Given the description of an element on the screen output the (x, y) to click on. 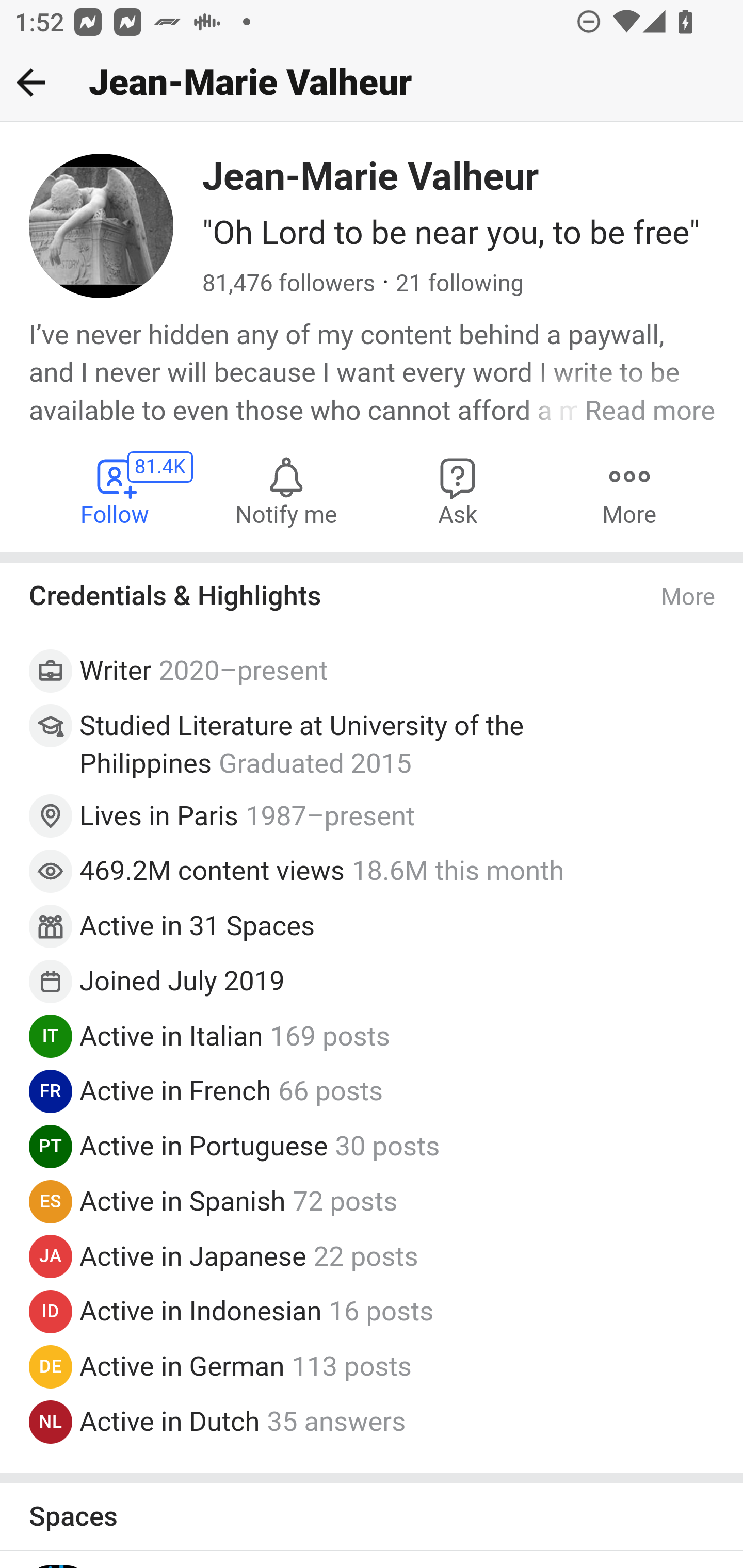
Back (30, 82)
81,476 followers (289, 284)
21 following (459, 284)
Follow Jean-Marie Valheur 81.4K Follow (115, 490)
Notify me (285, 490)
Ask (458, 490)
More (628, 490)
More (688, 597)
Active in Italian Active in  Italian (171, 1036)
Active in French Active in  French (175, 1091)
Active in Portuguese Active in  Portuguese (203, 1145)
Active in Spanish Active in  Spanish (182, 1199)
Active in Japanese Active in  Japanese (192, 1255)
Active in Indonesian Active in  Indonesian (201, 1311)
Active in German Active in  German (182, 1366)
Active in Dutch Active in  Dutch (169, 1420)
